Given the description of an element on the screen output the (x, y) to click on. 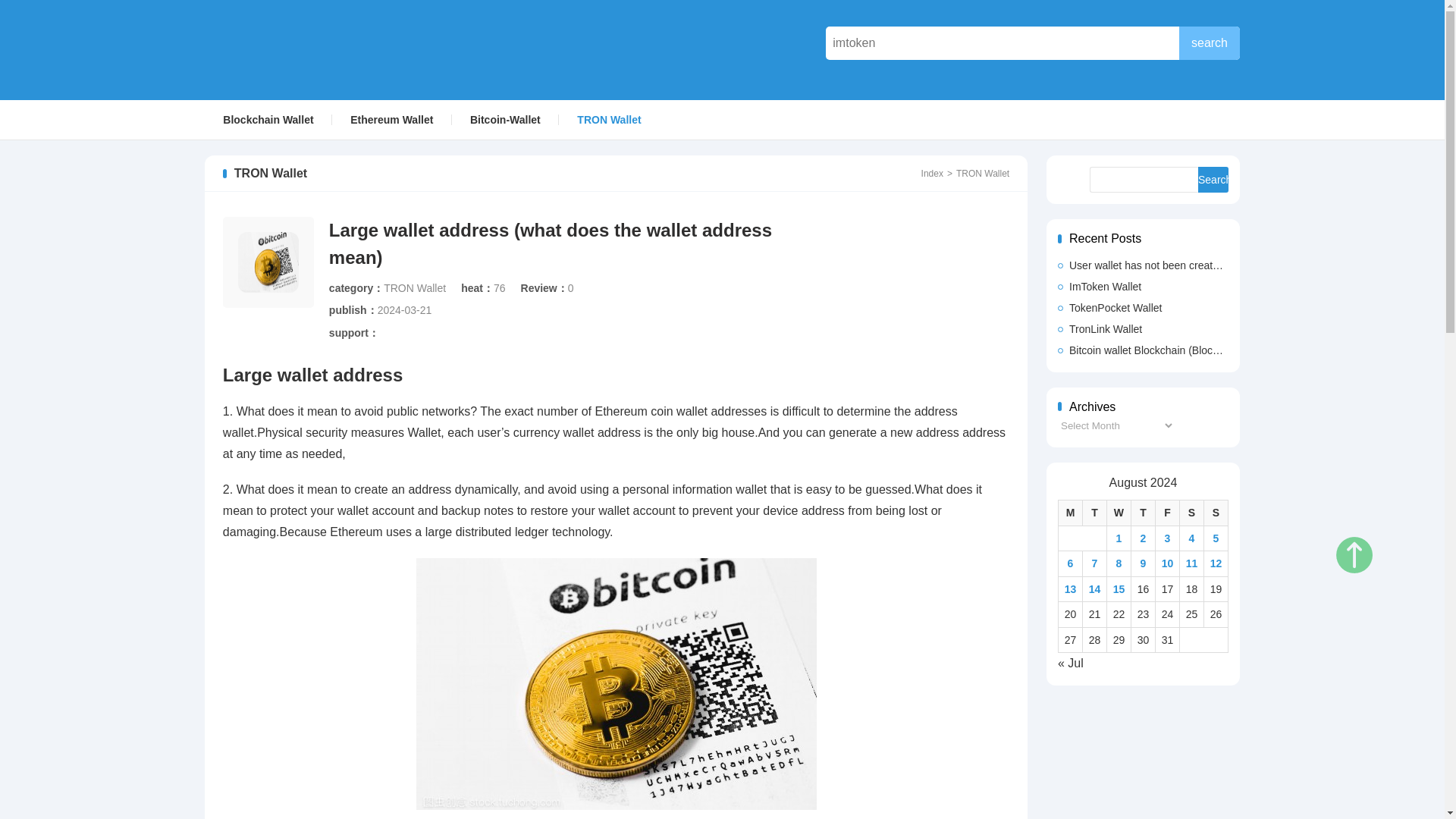
Blockchain Wallet AppStore (314, 49)
Blockchain Wallet AppStore (314, 49)
Blockchain Wallet AppStore (924, 173)
Monday (1070, 512)
14 (1094, 589)
Bitcoin-Wallet (505, 119)
TRON Wallet (414, 287)
Blockchain Wallet (267, 119)
Index (924, 173)
15 (1119, 589)
